Given the description of an element on the screen output the (x, y) to click on. 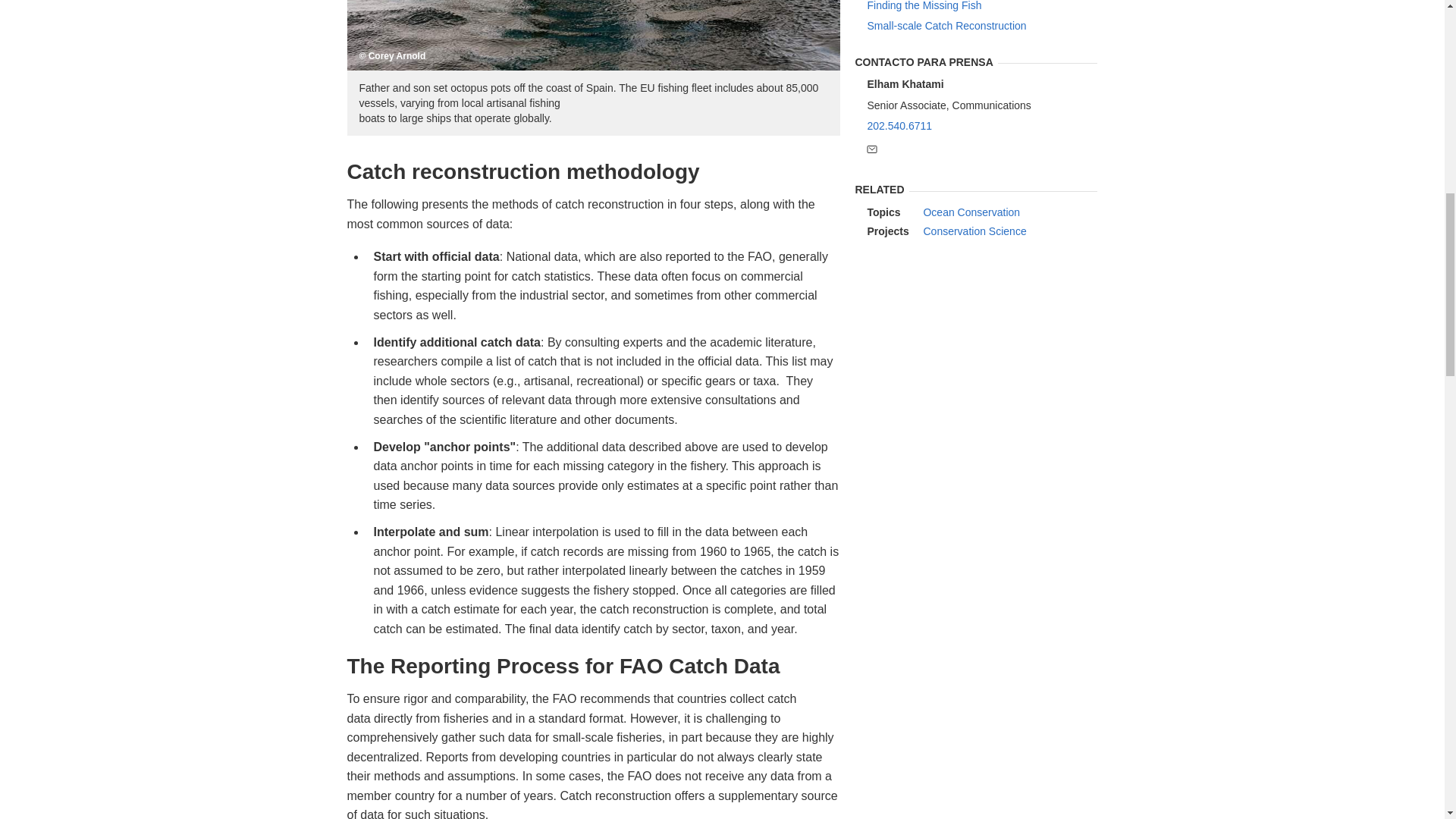
Finding the Missing Fish (981, 6)
Small-scale Catch Reconstruction (981, 26)
